Given the description of an element on the screen output the (x, y) to click on. 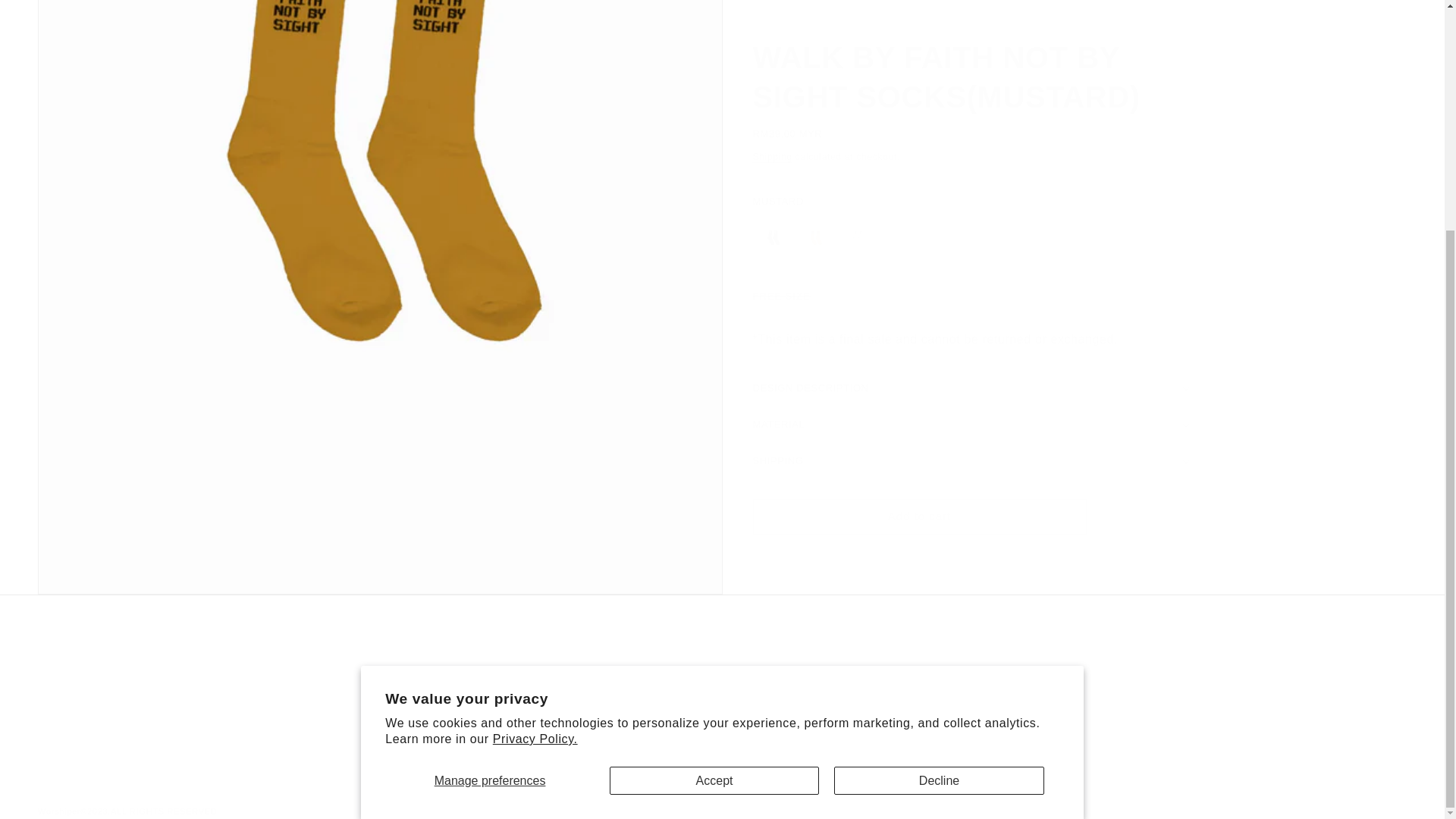
Privacy Policy. (535, 427)
Decline (938, 469)
Instagram (721, 702)
Manage preferences (489, 469)
Accept (714, 469)
